Given the description of an element on the screen output the (x, y) to click on. 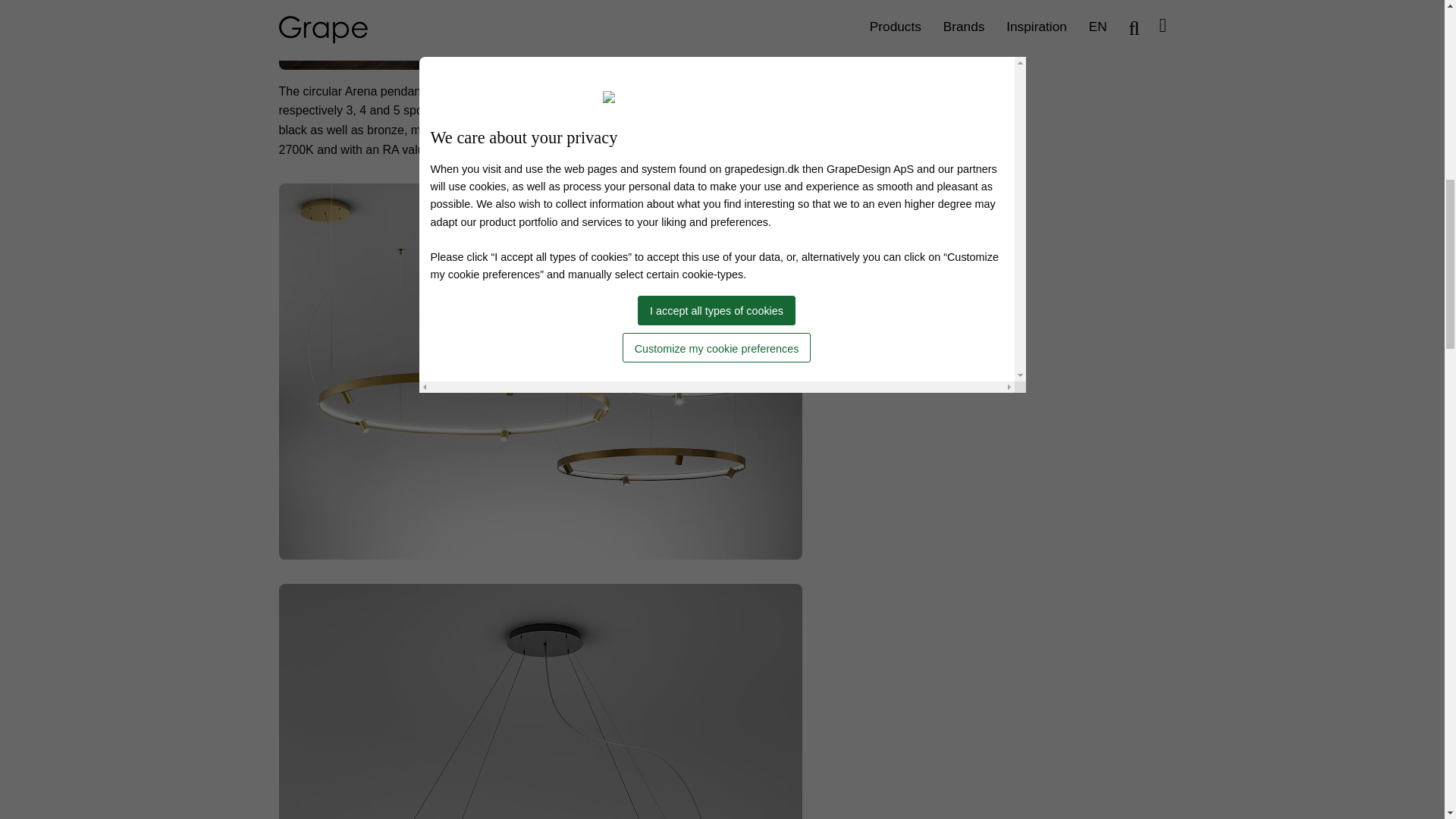
Arena circular pendant with spots (540, 701)
Arena circular pendant with spots in matt brass (540, 34)
